Given the description of an element on the screen output the (x, y) to click on. 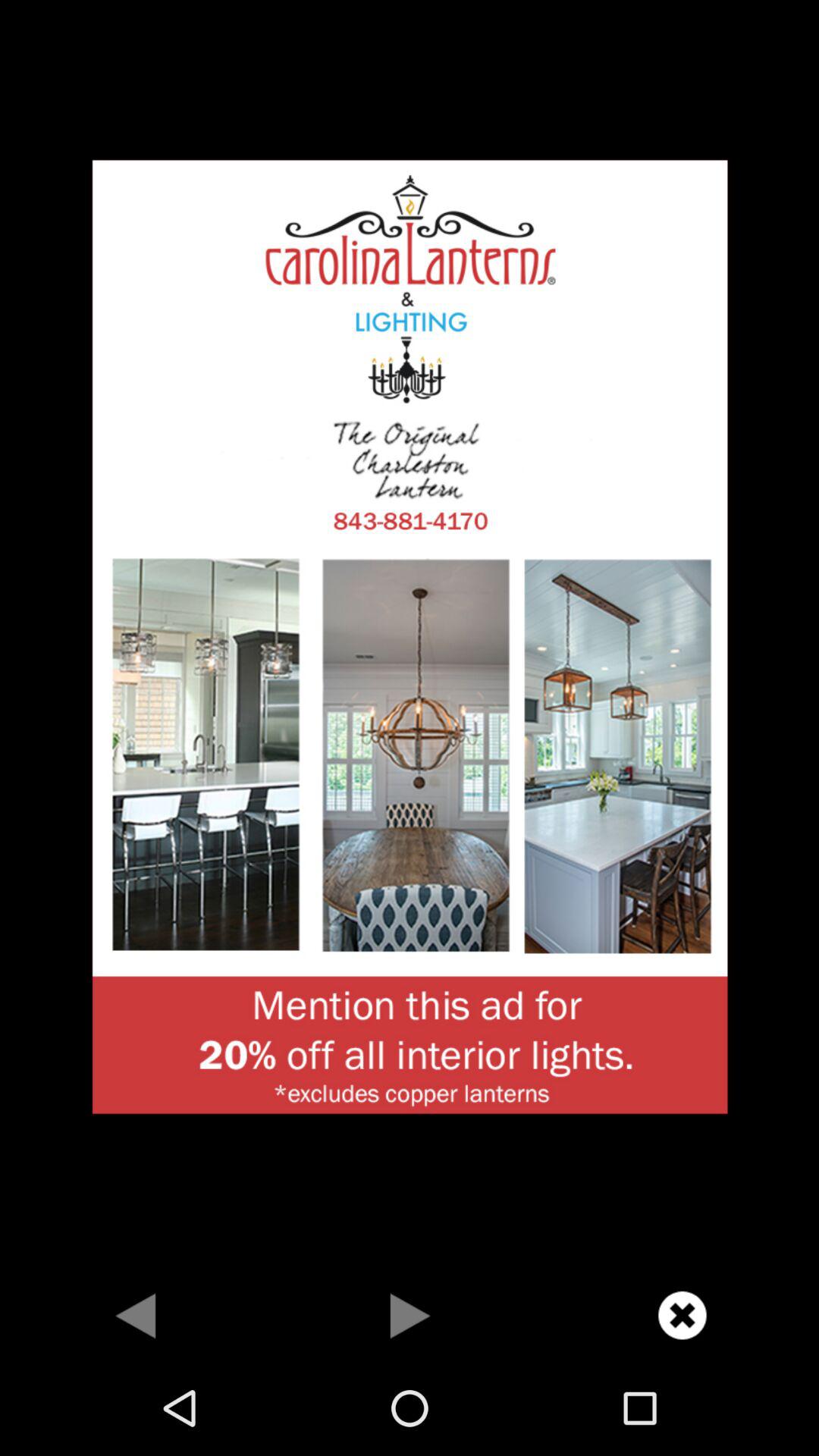
click to skip ahead (409, 1315)
